Given the description of an element on the screen output the (x, y) to click on. 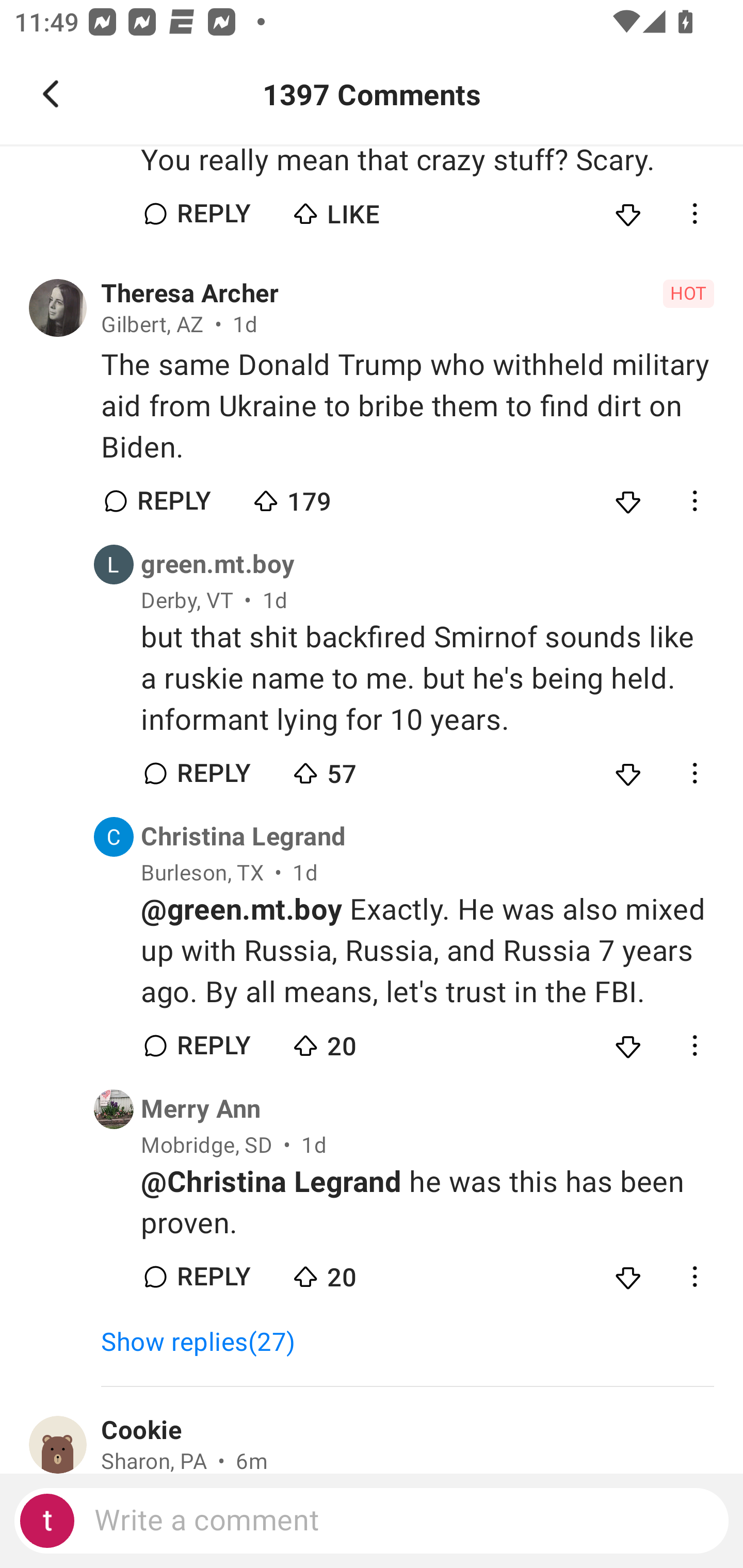
Navigate up (50, 93)
You really mean that crazy stuff? Scary. (427, 161)
LIKE (360, 209)
REPLY (213, 214)
Theresa Archer (189, 293)
179 (320, 496)
REPLY (173, 500)
green.mt.boy (217, 564)
57 (360, 768)
REPLY (213, 773)
Christina Legrand (243, 836)
20 (360, 1041)
REPLY (213, 1045)
Merry Ann (200, 1109)
@Christina Legrand he was this has been proven.  (427, 1202)
20 (360, 1272)
REPLY (213, 1277)
Show replies(27) (207, 1342)
Cookie (141, 1430)
Write a comment (371, 1520)
